Given the description of an element on the screen output the (x, y) to click on. 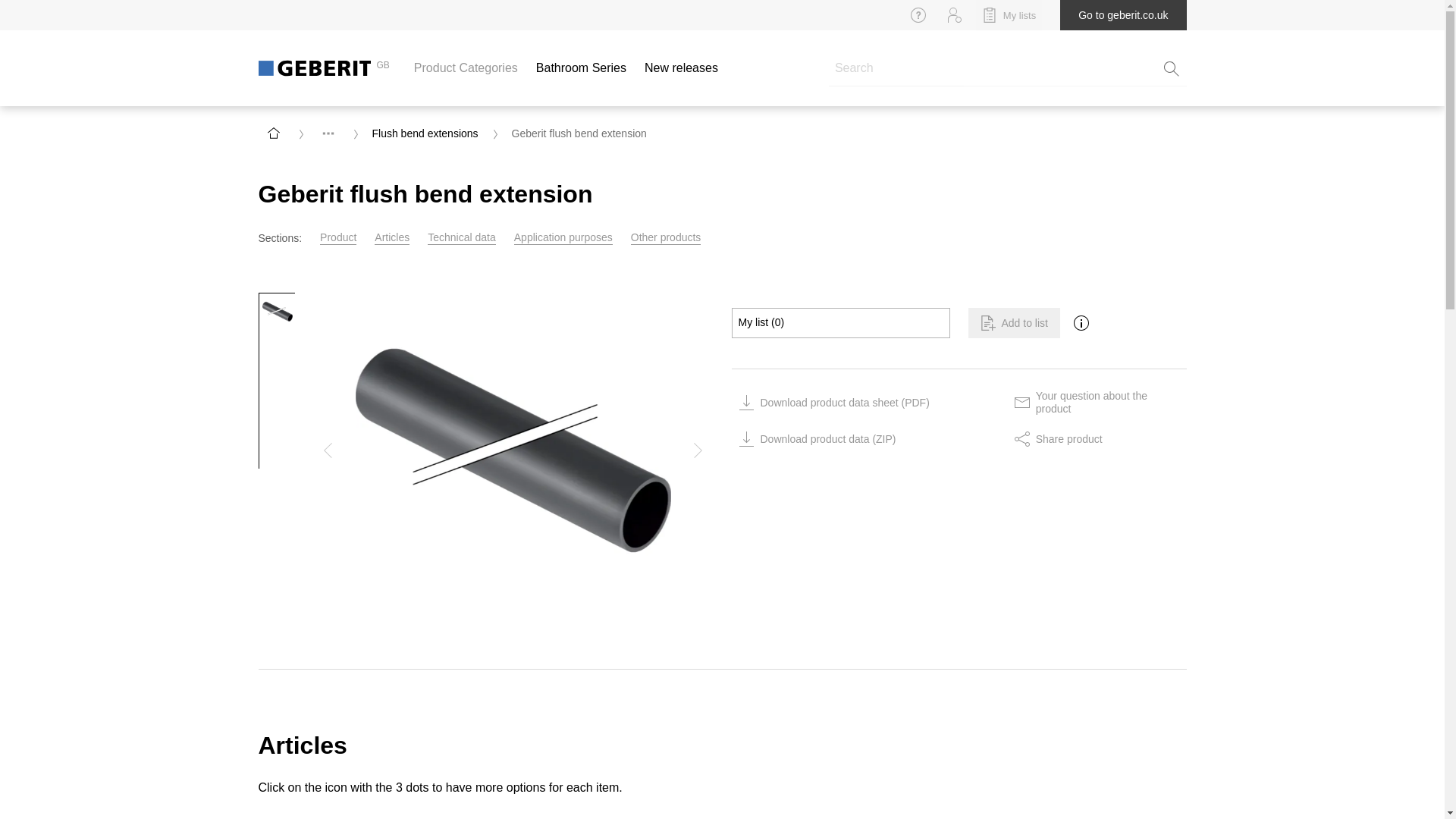
GB (322, 67)
Go to geberit.co.uk (1122, 13)
Product Categories (465, 67)
My lists (1008, 13)
